Given the description of an element on the screen output the (x, y) to click on. 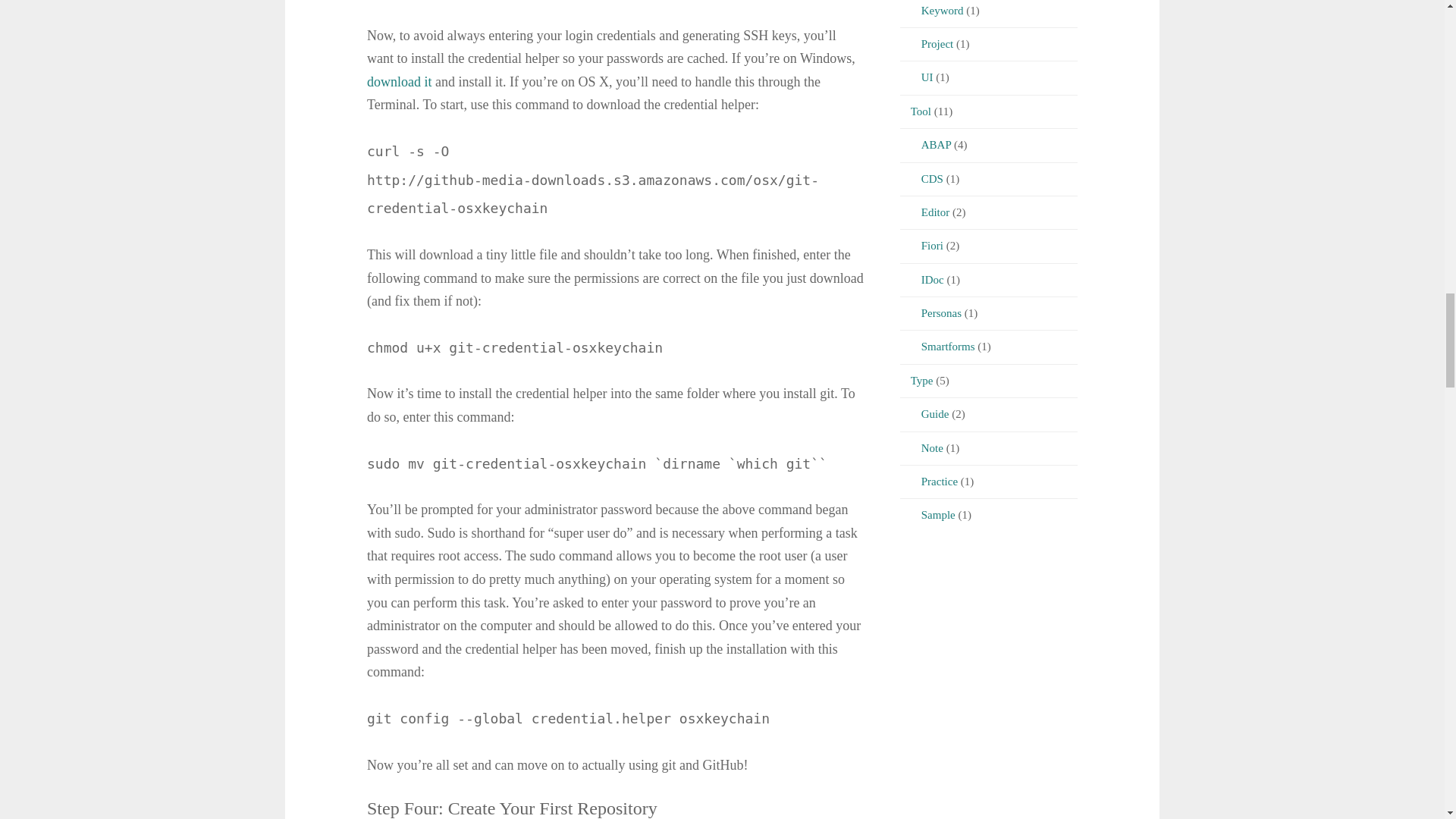
download it (399, 81)
